Given the description of an element on the screen output the (x, y) to click on. 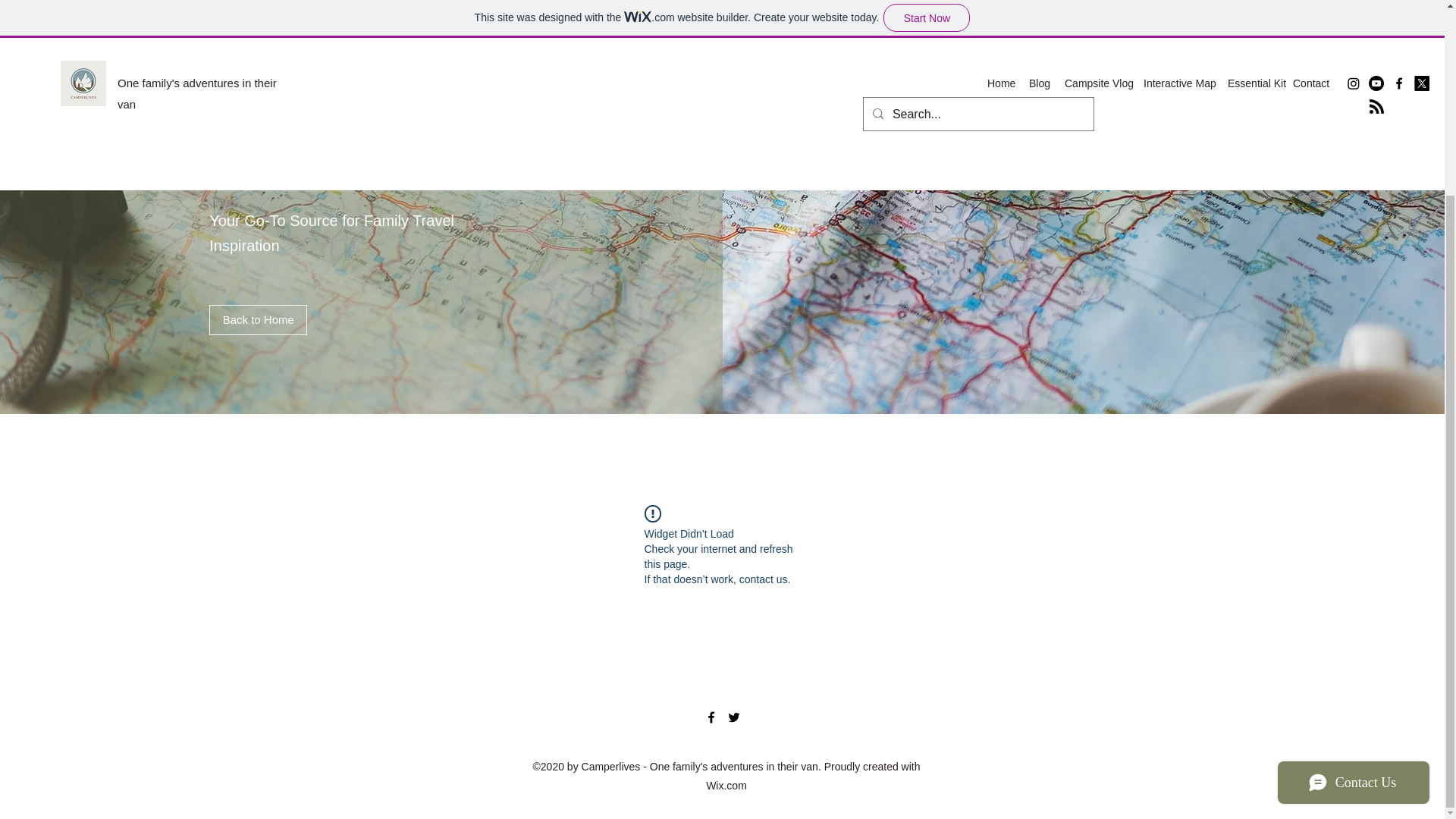
! (653, 513)
Back to Home (258, 319)
